Given the description of an element on the screen output the (x, y) to click on. 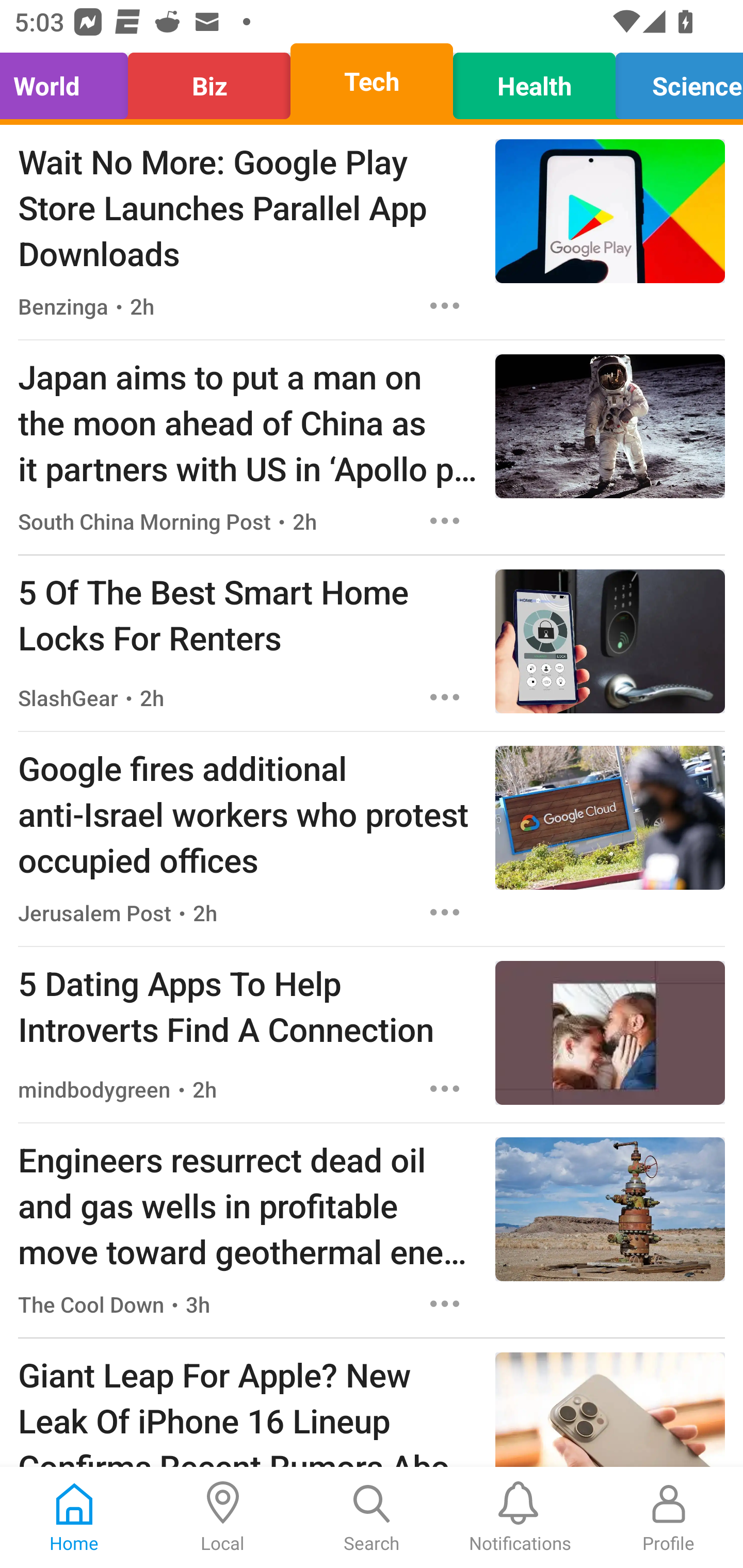
World (69, 81)
Biz (209, 81)
Tech (371, 81)
Health (534, 81)
Science (673, 81)
Options (444, 305)
Options (444, 520)
Options (444, 697)
Options (444, 912)
Options (444, 1088)
Options (444, 1303)
Local (222, 1517)
Search (371, 1517)
Notifications (519, 1517)
Profile (668, 1517)
